Given the description of an element on the screen output the (x, y) to click on. 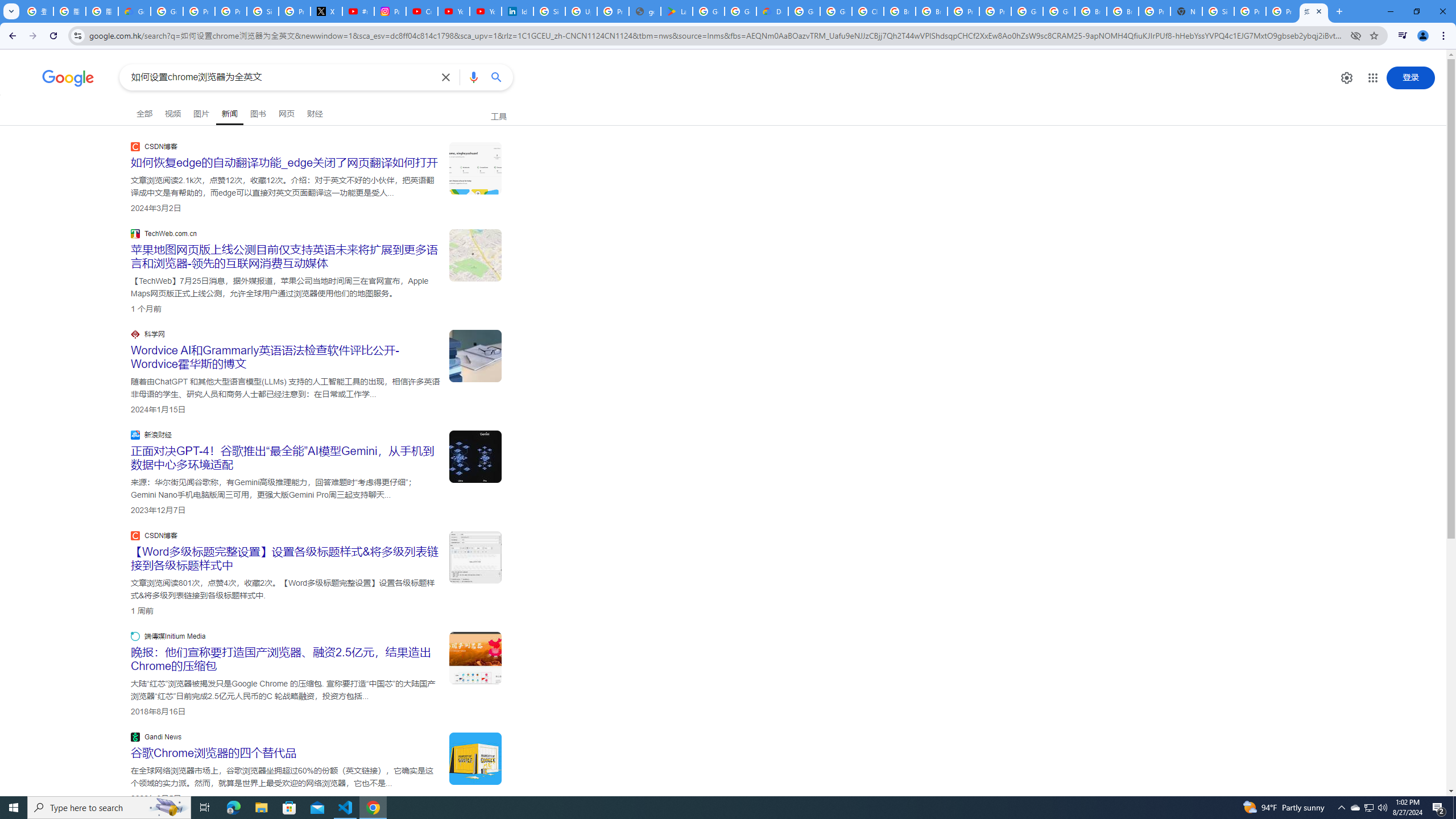
Google Cloud Platform (1059, 11)
Sign in - Google Accounts (262, 11)
YouTube Culture & Trends - YouTube Top 10, 2021 (485, 11)
